Given the description of an element on the screen output the (x, y) to click on. 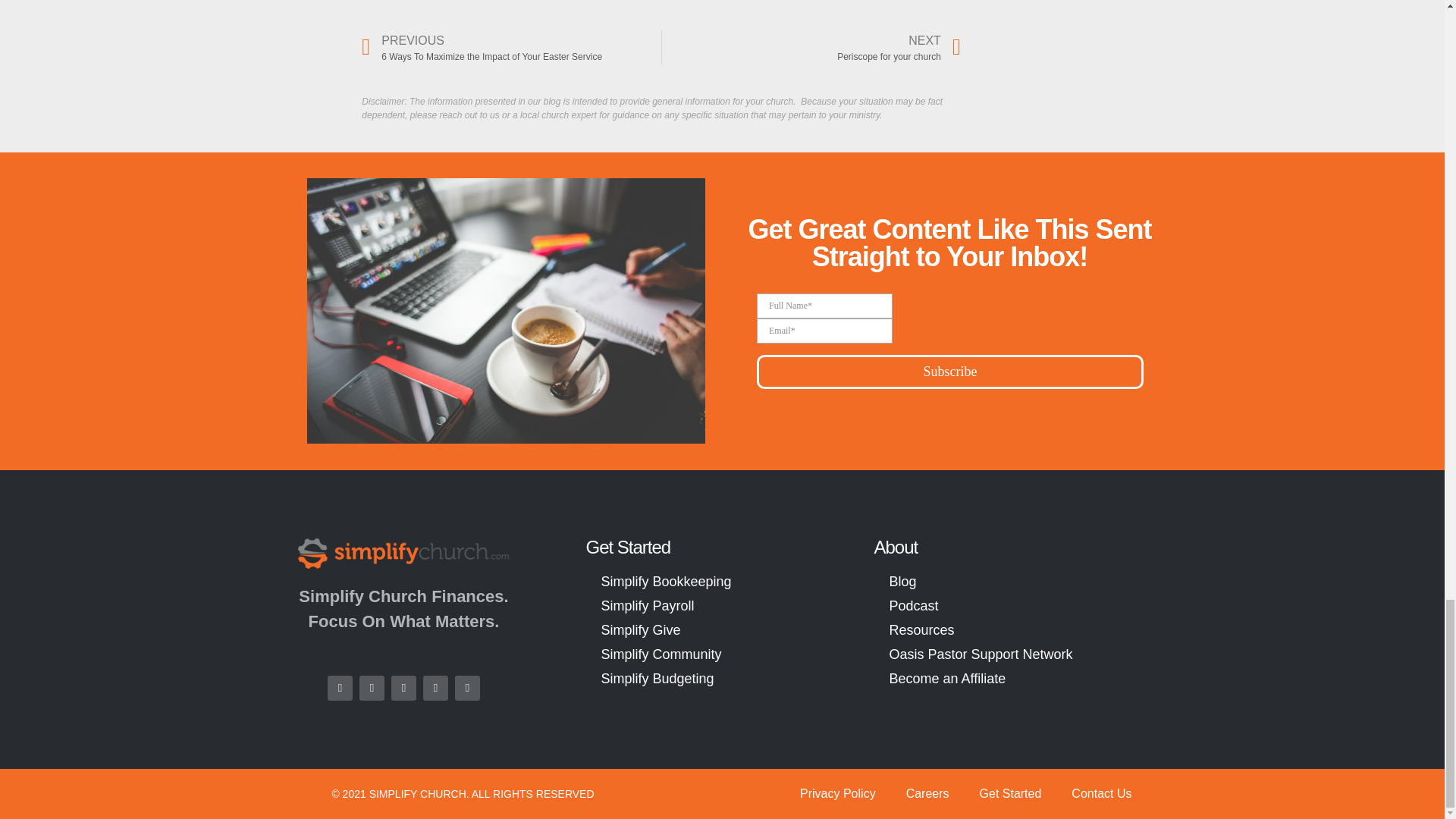
Course Creator Registration (949, 342)
